Given the description of an element on the screen output the (x, y) to click on. 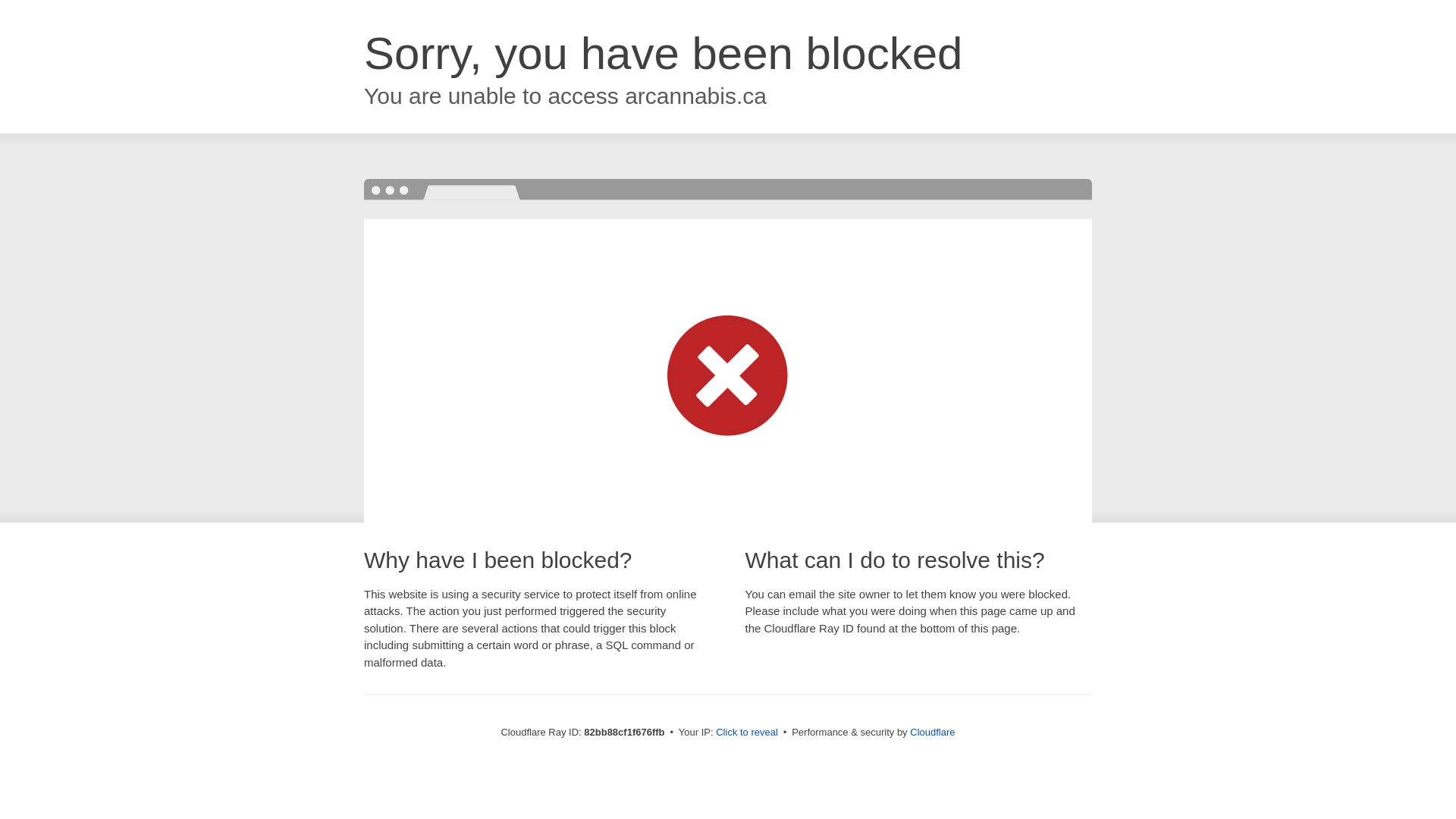
Cloudflare Element type: text (932, 731)
Click to reveal Element type: text (746, 732)
